Given the description of an element on the screen output the (x, y) to click on. 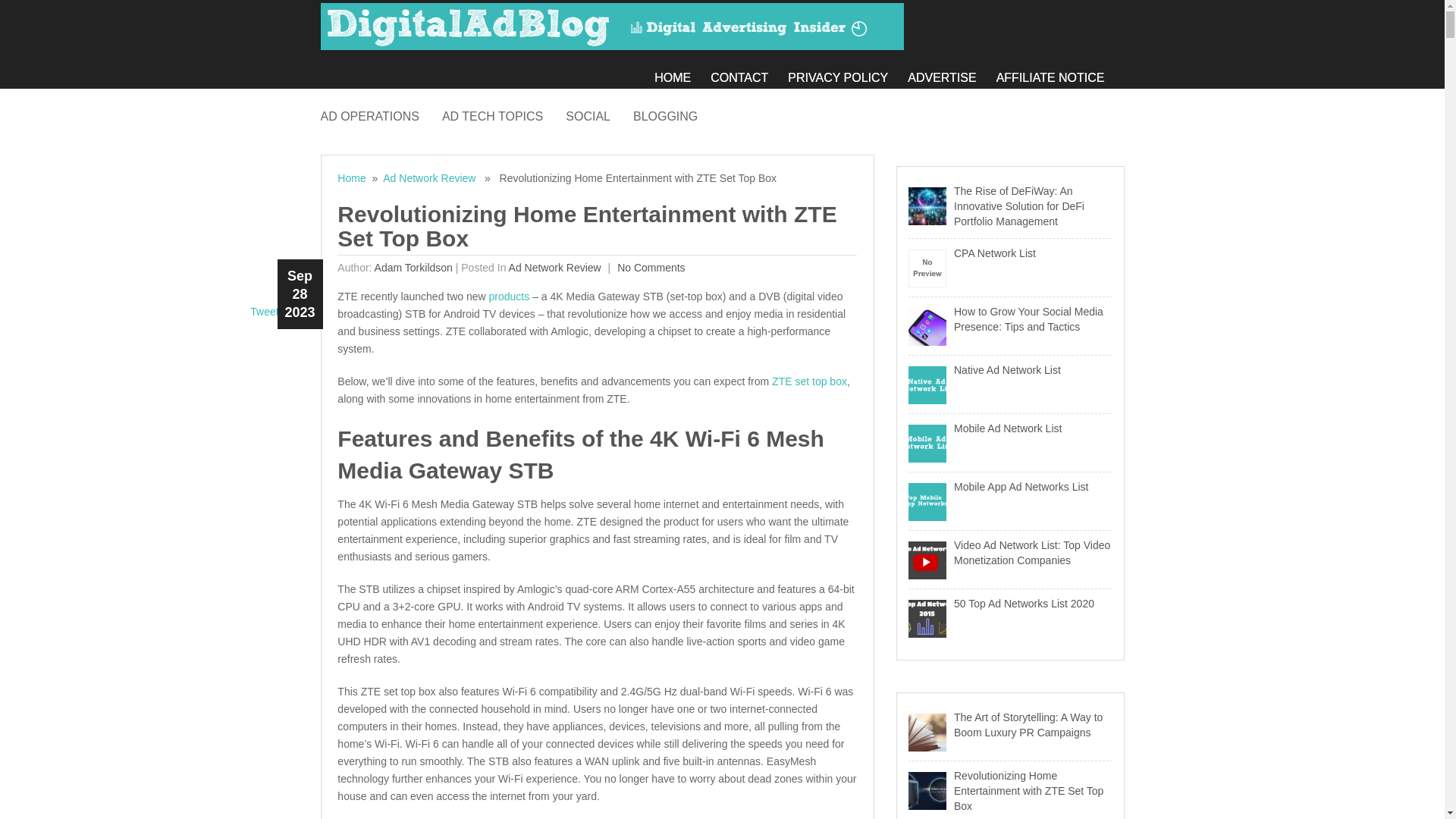
AD OPERATIONS (380, 113)
ZTE set top box (809, 381)
Video Ad Network List: Top Video Monetization Companies (1010, 552)
No Comments (649, 267)
Tweet (264, 311)
PRIVACY POLICY (847, 72)
CPA Network List (1010, 253)
Adam Torkildson (413, 267)
Home (351, 177)
HOME (681, 72)
AD TECH TOPICS (504, 113)
AFFILIATE NOTICE (1059, 72)
CONTACT (748, 72)
SOCIAL (599, 113)
Mobile App Ad Networks List (1010, 486)
